Given the description of an element on the screen output the (x, y) to click on. 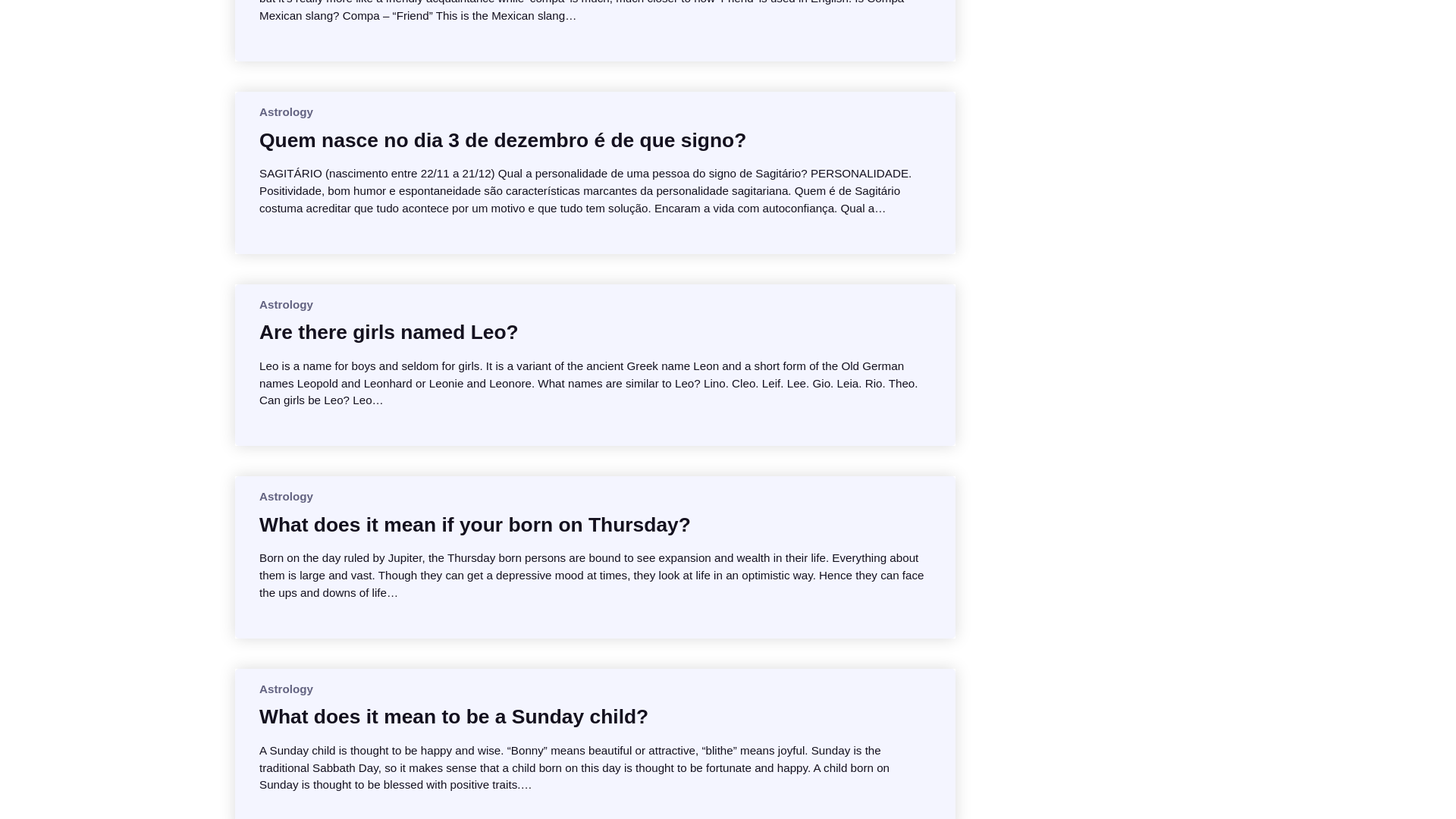
What does it mean if your born on Thursday? (474, 524)
What does it mean to be a Sunday child? (453, 716)
Astrology (286, 111)
Astrology (286, 688)
Are there girls named Leo? (388, 331)
Astrology (286, 495)
Astrology (286, 304)
